Given the description of an element on the screen output the (x, y) to click on. 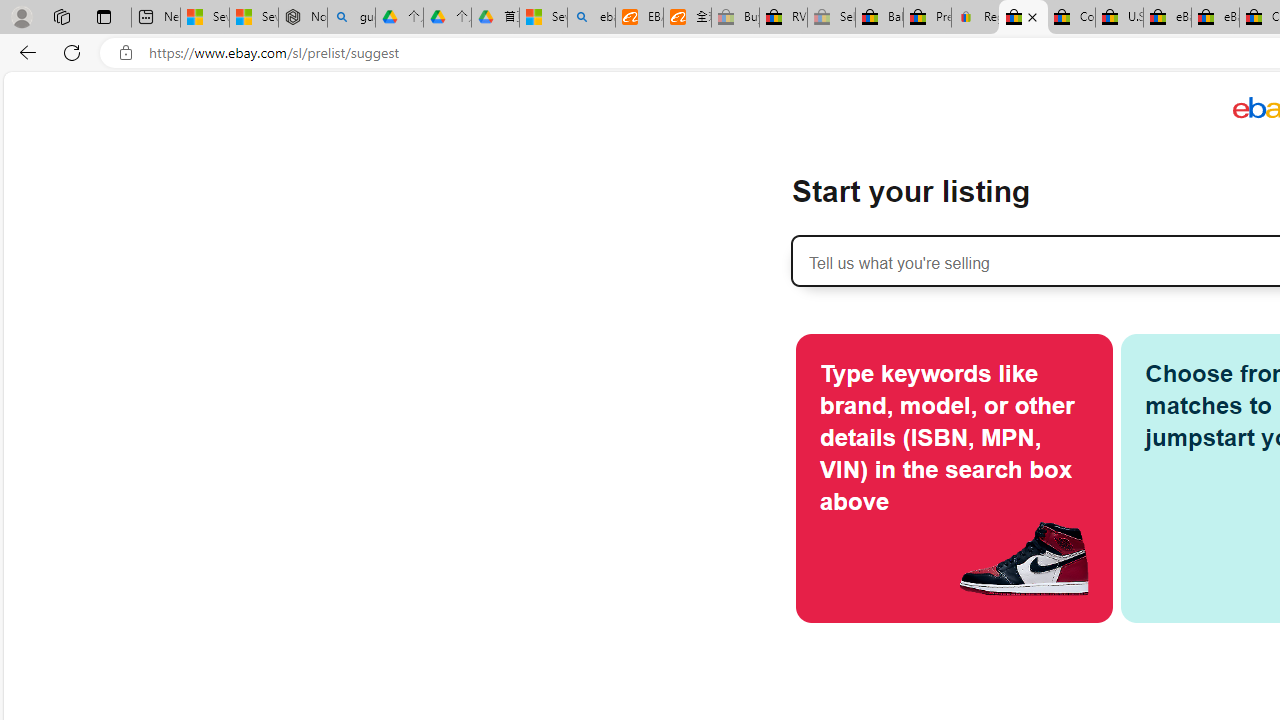
RV, Trailer & Camper Steps & Ladders for sale | eBay (783, 17)
U.S. State Privacy Disclosures - eBay Inc. (1119, 17)
ebay - Search (591, 17)
Sell worldwide with eBay - Sleeping (831, 17)
eBay Inc. Reports Third Quarter 2023 Results (1215, 17)
